Given the description of an element on the screen output the (x, y) to click on. 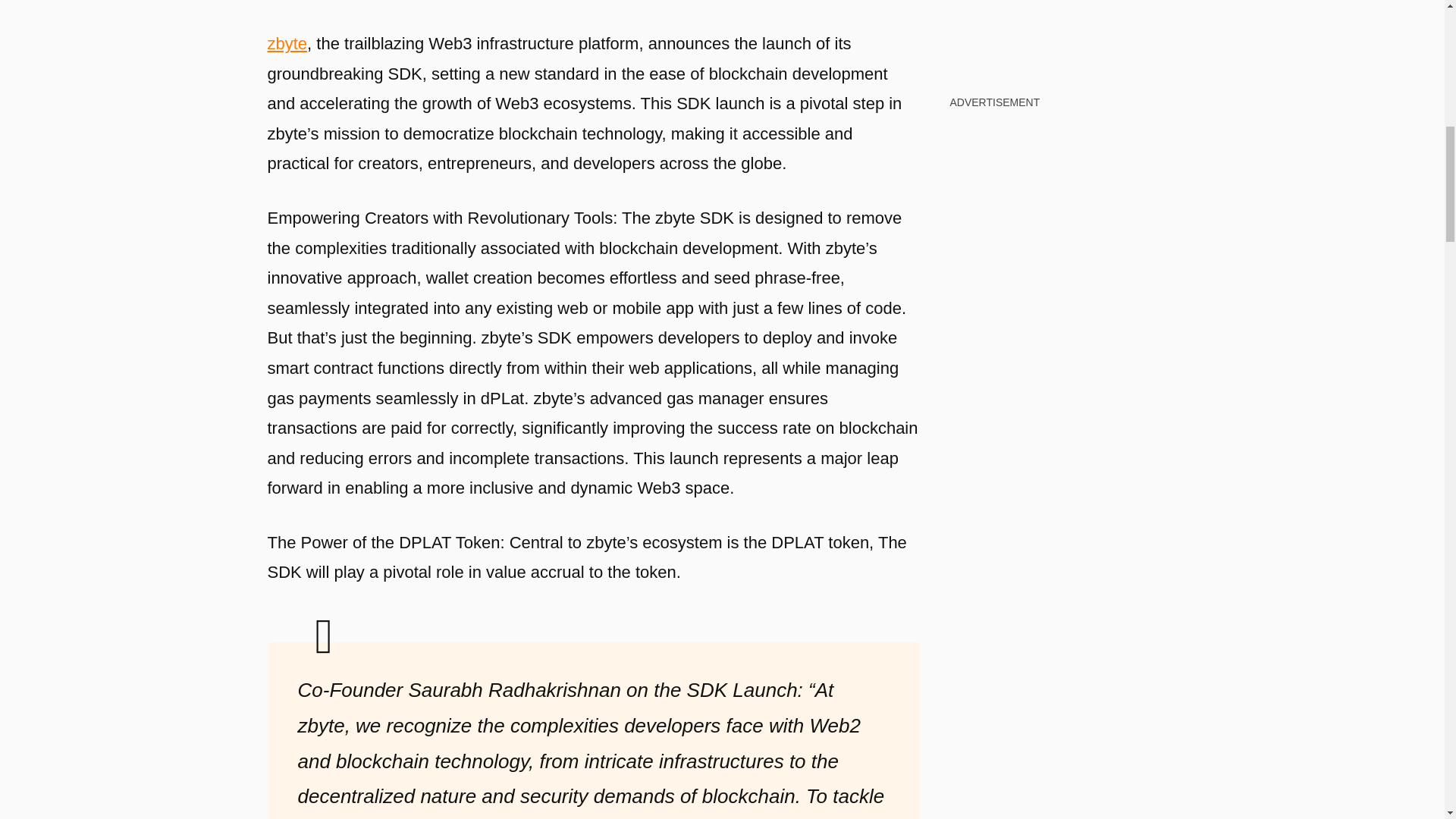
zbyte (286, 43)
